Given the description of an element on the screen output the (x, y) to click on. 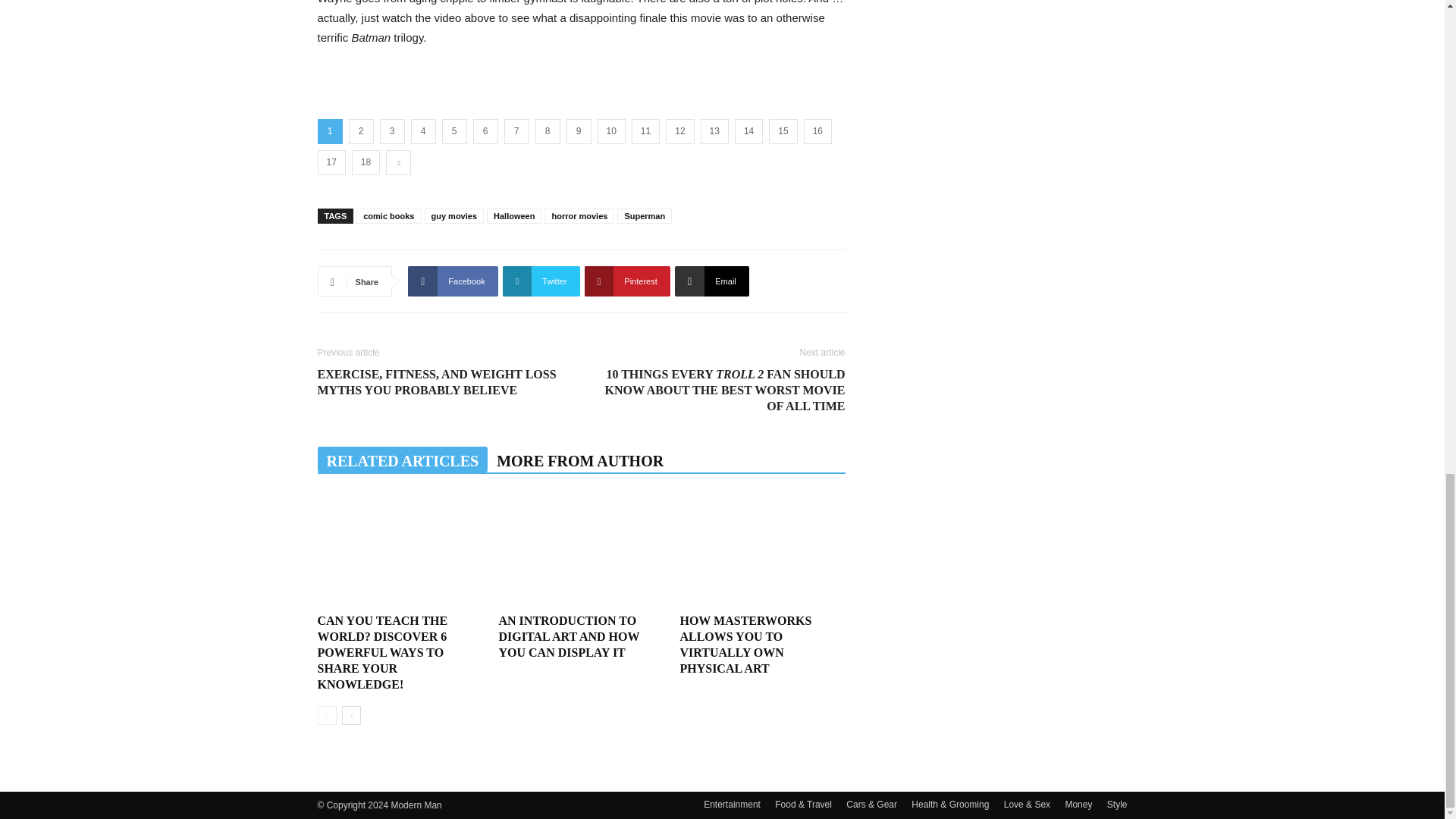
How Masterworks Allows You to Virtually Own Physical Art (761, 551)
An Introduction to Digital Art and How You Can Display It (580, 551)
How Masterworks Allows You to Virtually Own Physical Art (744, 644)
An Introduction to Digital Art and How You Can Display It (568, 636)
